Given the description of an element on the screen output the (x, y) to click on. 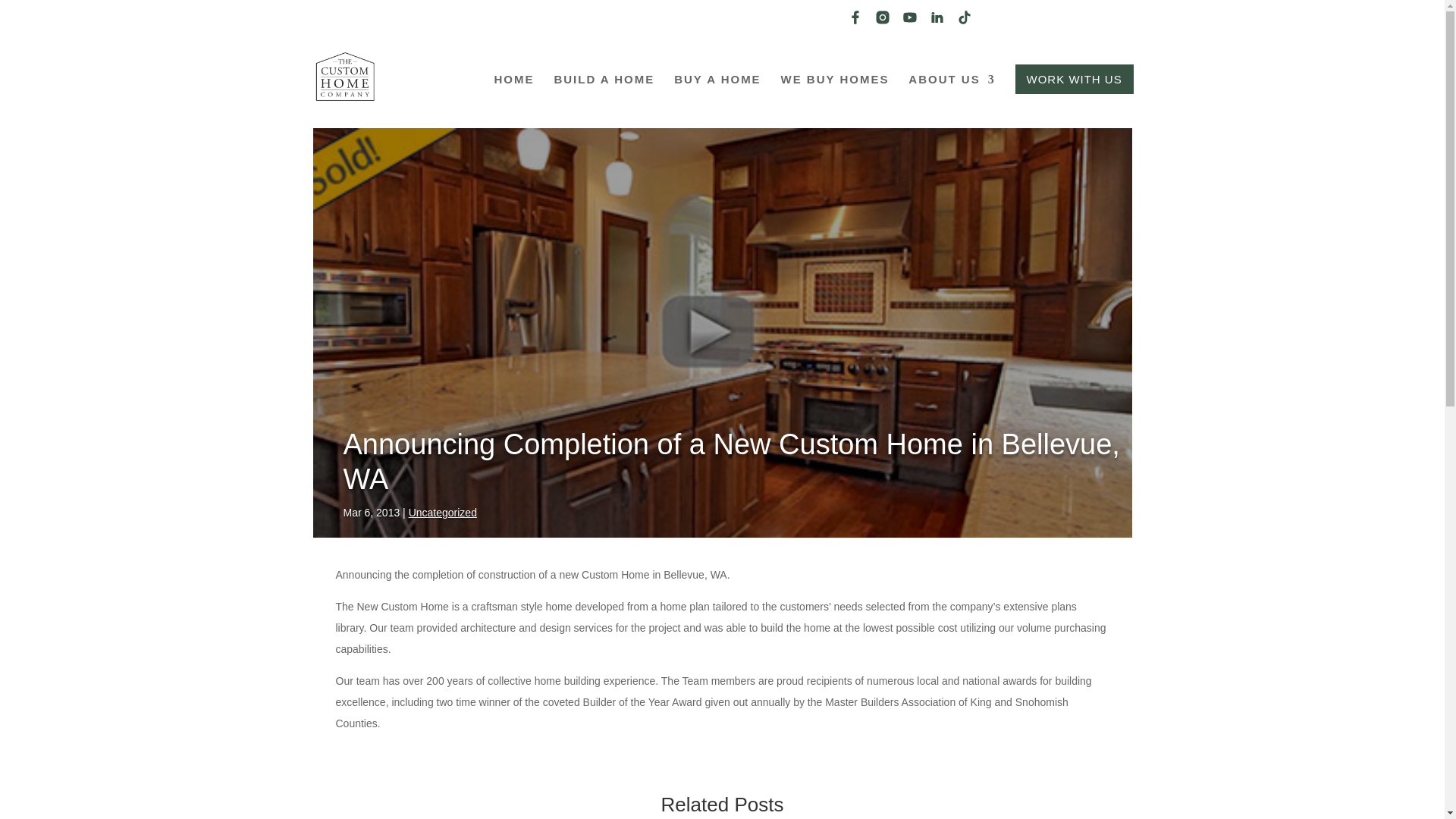
AGENTS (1104, 22)
ABOUT US (951, 96)
HOME (514, 96)
BUILD A HOME (603, 96)
WORK WITH US (1074, 78)
LOCATION (1029, 22)
BUY A HOME (717, 96)
Uncategorized (443, 512)
WE BUY HOMES (834, 96)
